Given the description of an element on the screen output the (x, y) to click on. 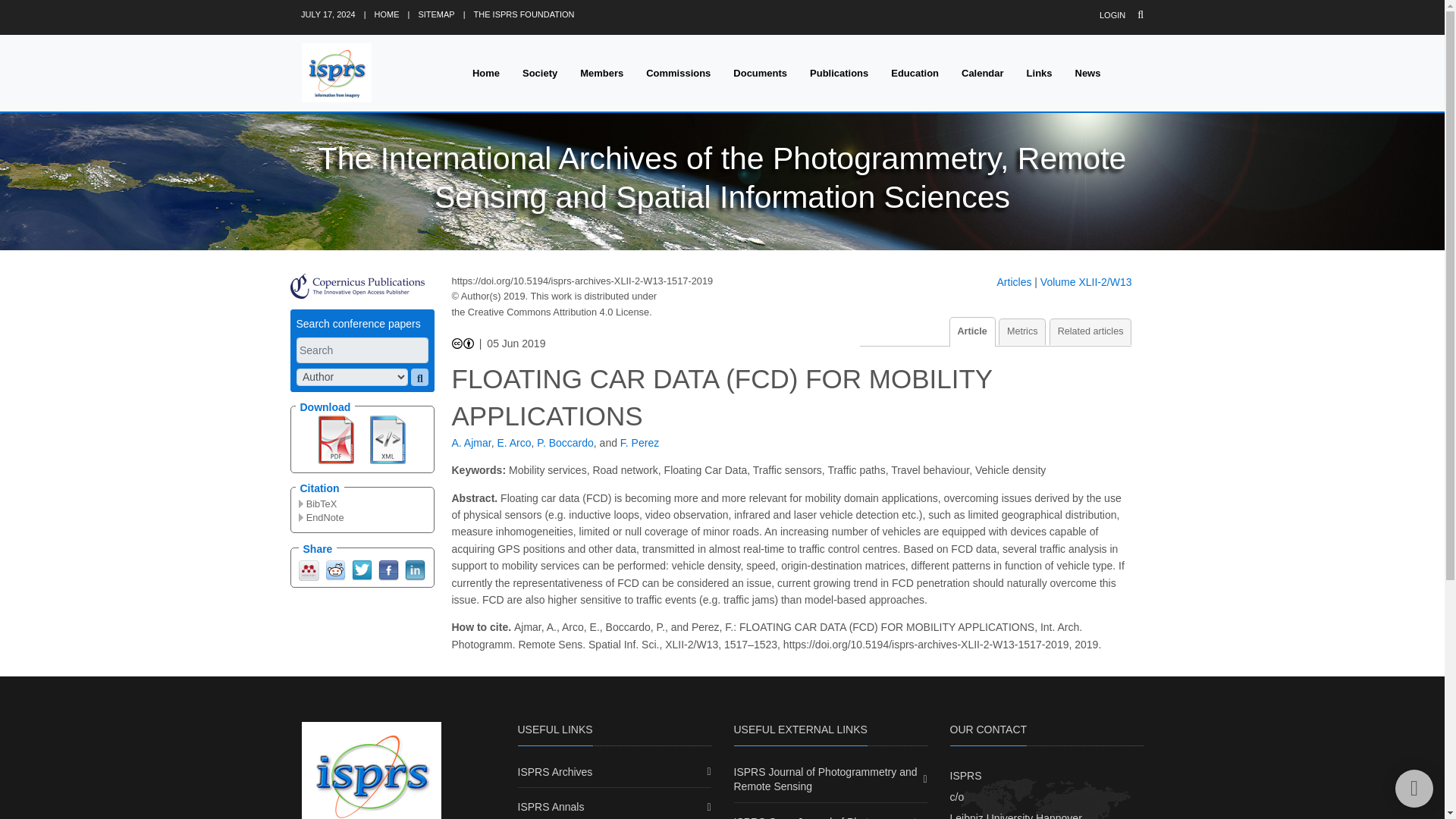
Society (539, 73)
LOGIN (1112, 14)
HOME (386, 13)
THE ISPRS FOUNDATION (524, 13)
SITEMAP (435, 13)
Home (485, 73)
